Given the description of an element on the screen output the (x, y) to click on. 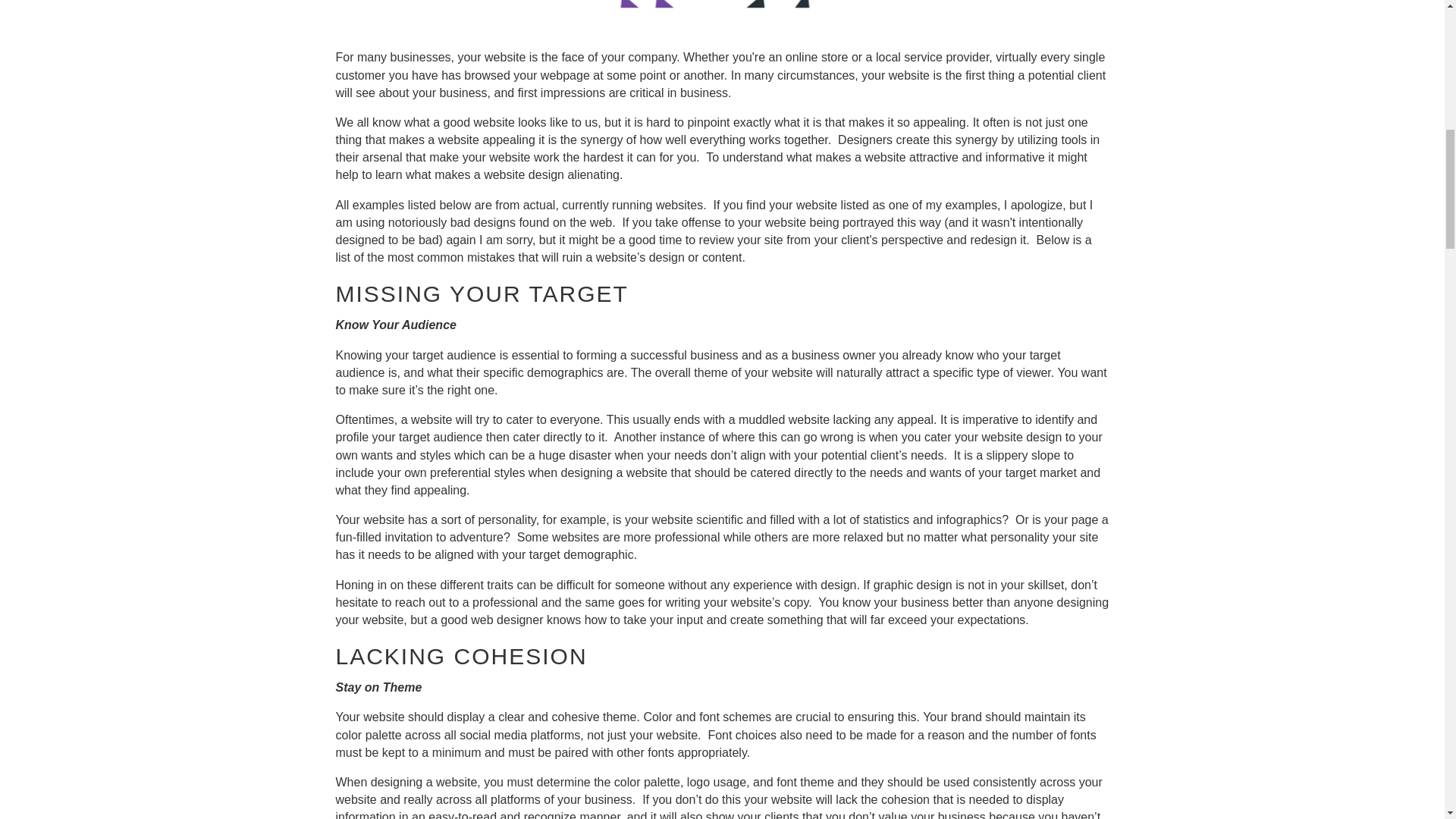
Design Mistakes That Could Be Hurting Your Business Website (721, 9)
